Given the description of an element on the screen output the (x, y) to click on. 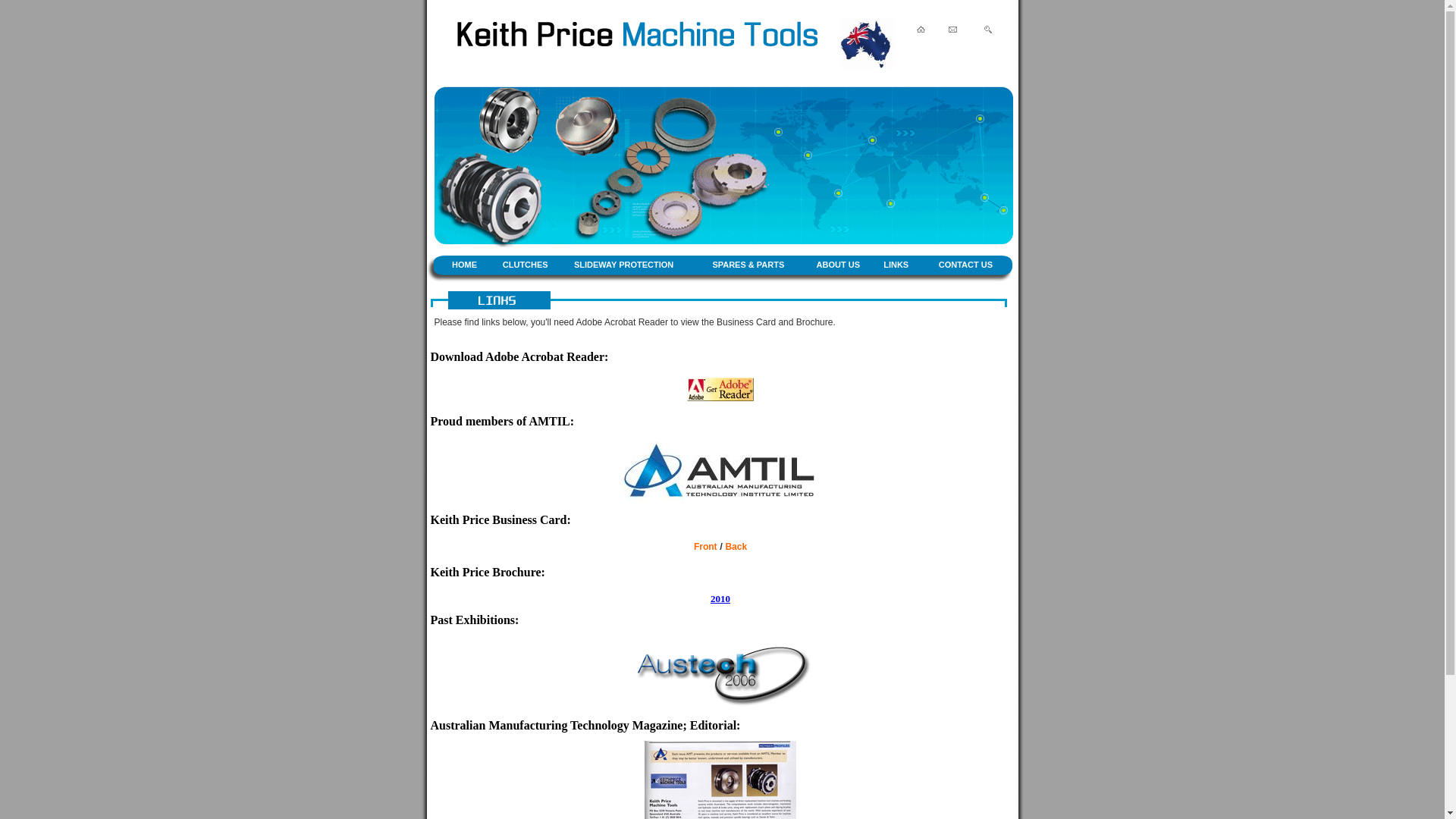
SPARES & PARTS Element type: text (748, 264)
HOME Element type: text (463, 264)
2010 Element type: text (720, 598)
Back Element type: text (735, 546)
LINKS Element type: text (895, 264)
CLUTCHES Element type: text (525, 264)
Front Element type: text (705, 546)
SLIDEWAY PROTECTION Element type: text (623, 264)
CONTACT US Element type: text (965, 264)
ABOUT US Element type: text (837, 264)
